Given the description of an element on the screen output the (x, y) to click on. 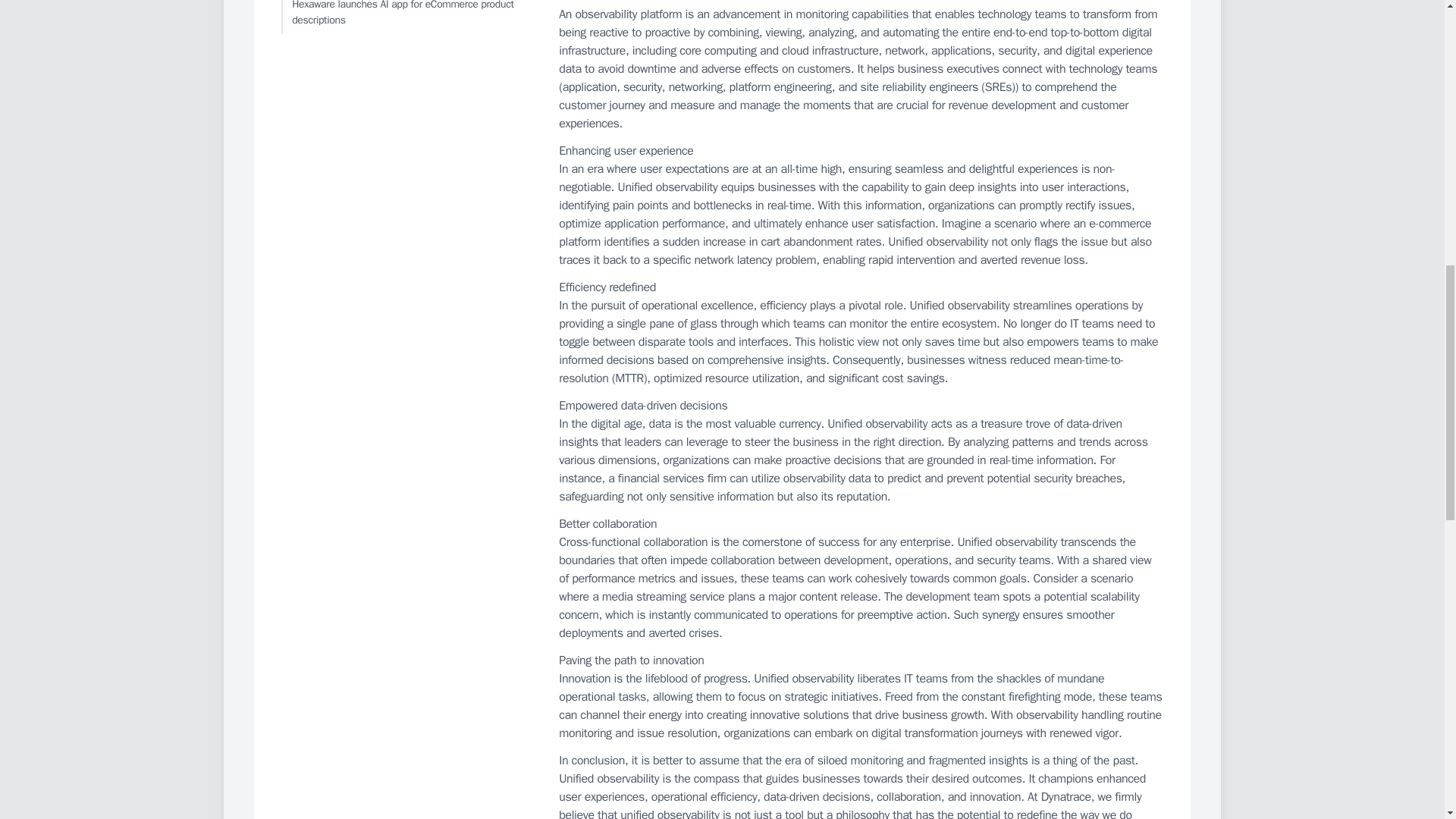
Hexaware launches AI app for eCommerce product descriptions (406, 17)
